Given the description of an element on the screen output the (x, y) to click on. 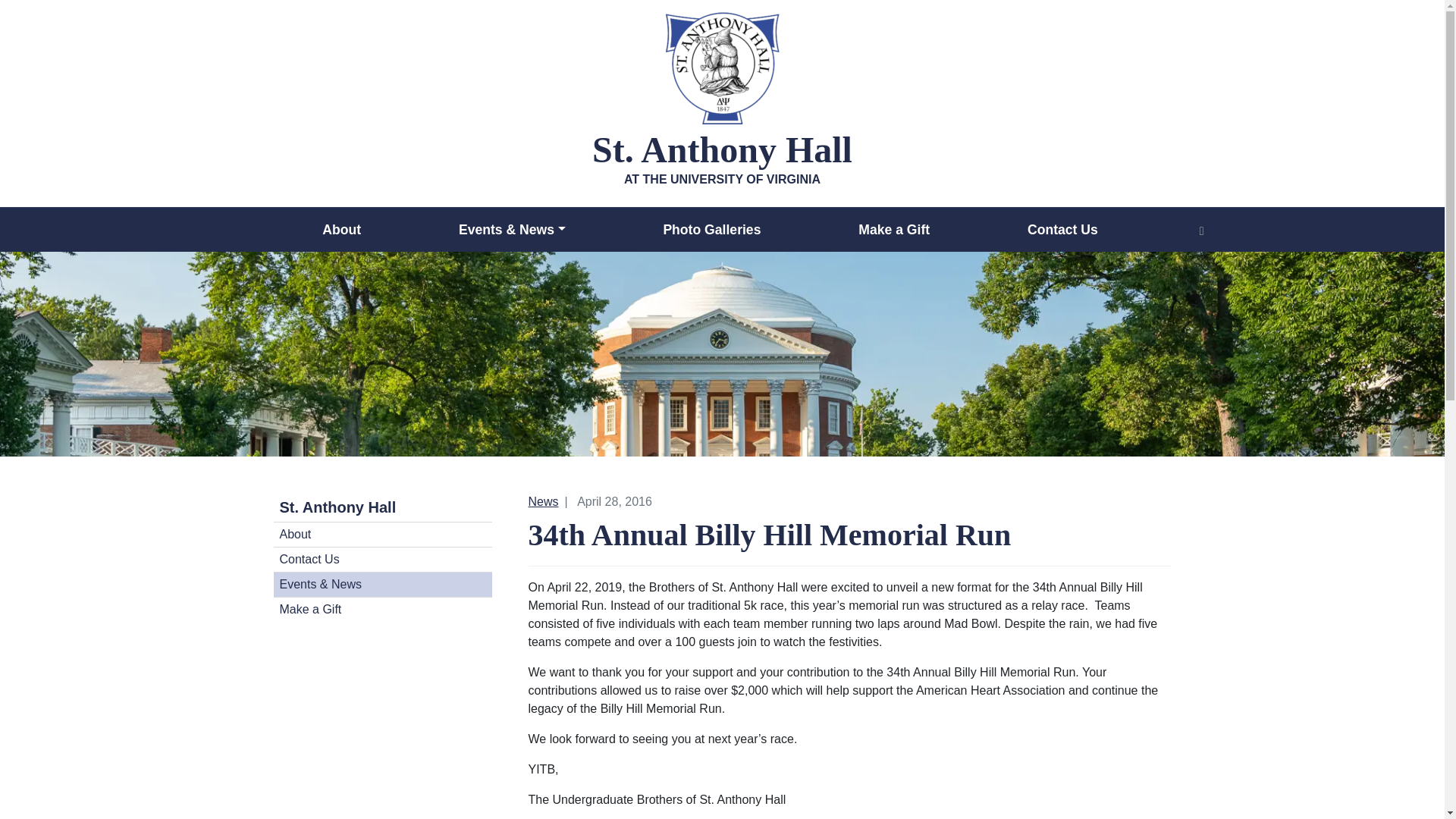
Contact Us (1062, 229)
St. Anthony Hall (382, 507)
Make a Gift (893, 229)
About (340, 229)
Contact Us (382, 559)
Photo Galleries (711, 229)
Make a Gift (382, 609)
About (382, 534)
News (542, 501)
